Given the description of an element on the screen output the (x, y) to click on. 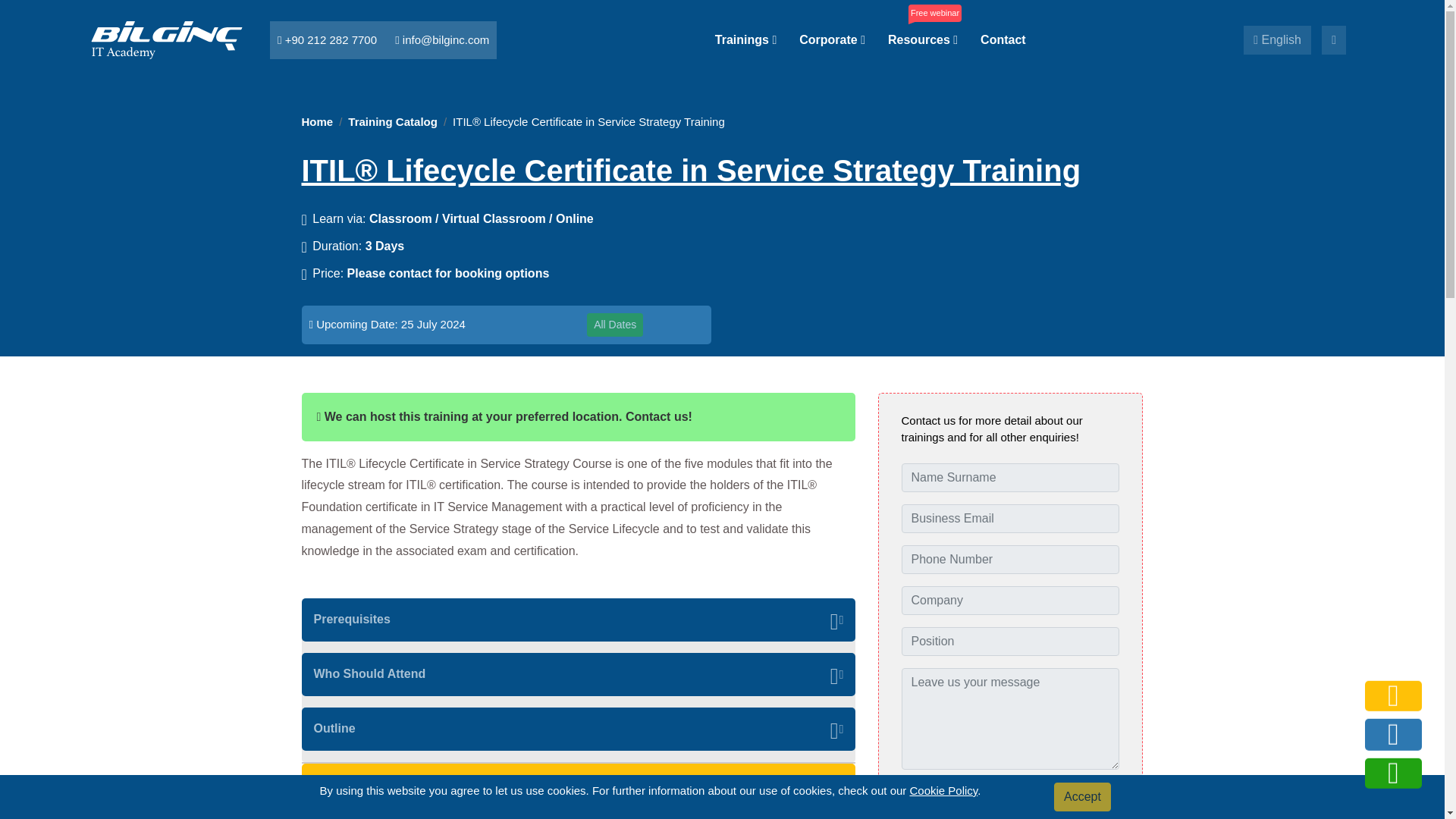
Corporate (831, 40)
Resources (923, 40)
contact us (1393, 734)
Trainings (745, 40)
